Given the description of an element on the screen output the (x, y) to click on. 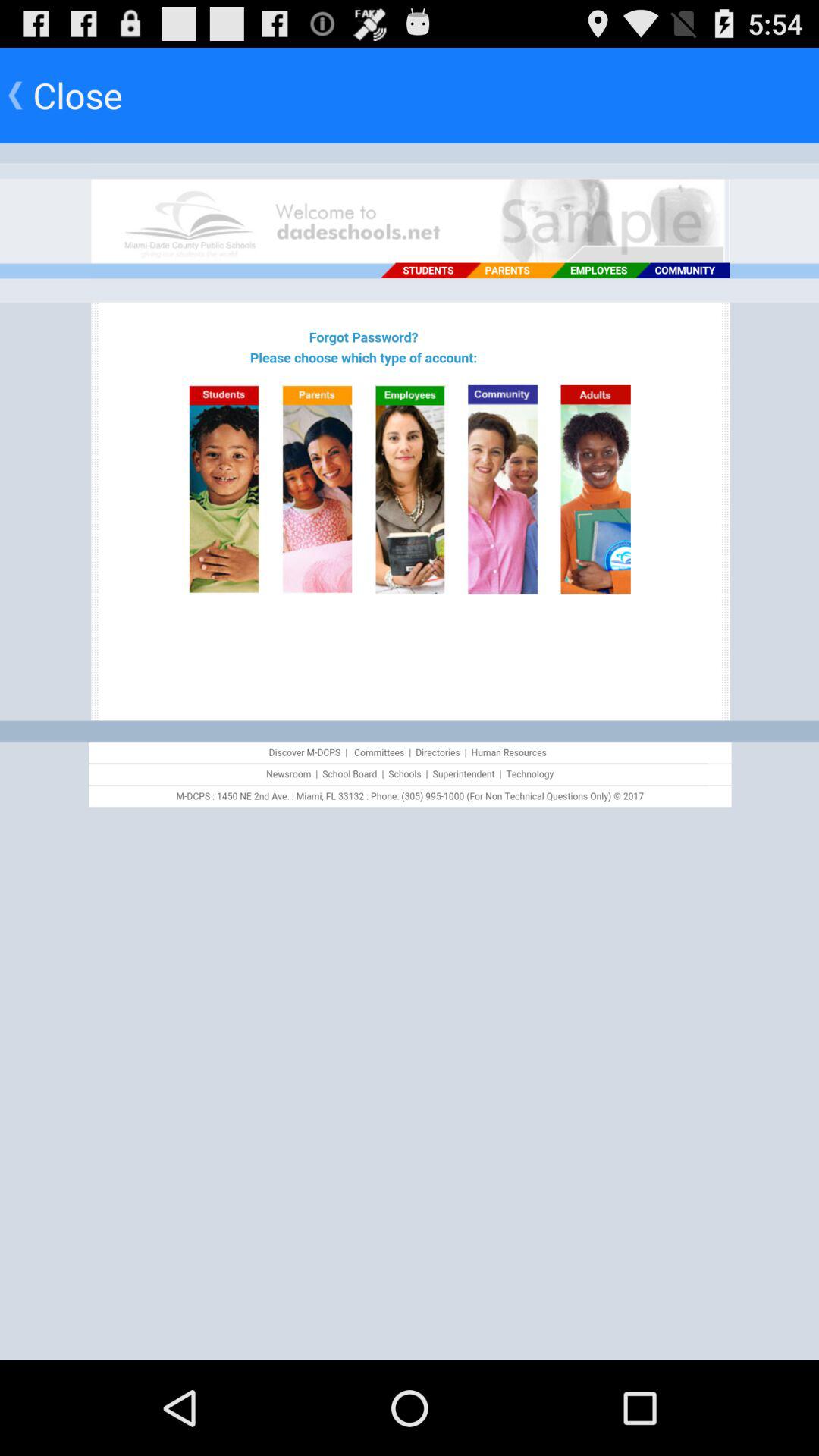
advertisement (409, 751)
